Given the description of an element on the screen output the (x, y) to click on. 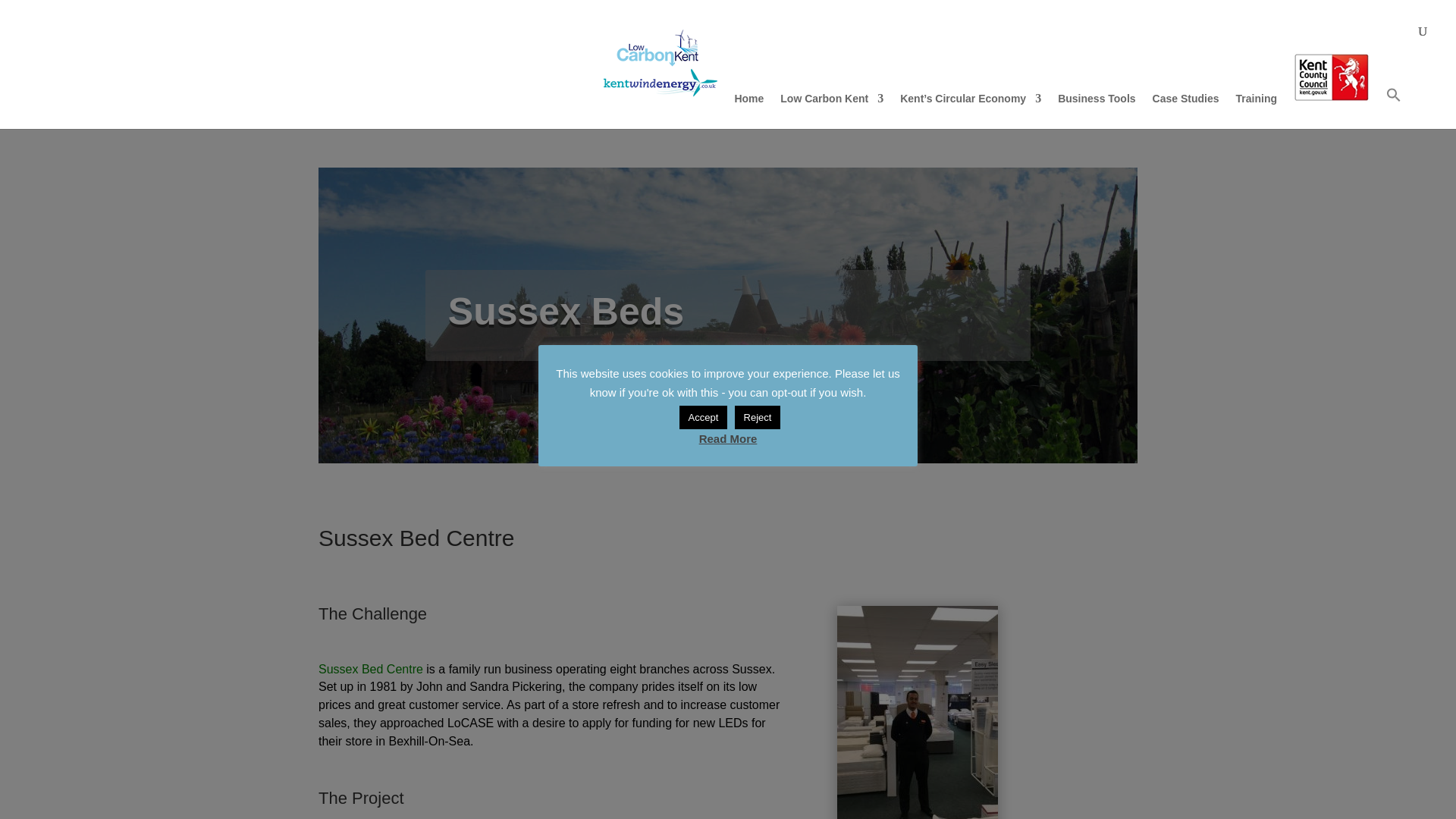
Case Studies (1186, 110)
Business Tools (1096, 110)
Home (747, 110)
Search (157, 8)
Search (157, 8)
Low Carbon Kent (831, 110)
Training (1256, 110)
